Given the description of an element on the screen output the (x, y) to click on. 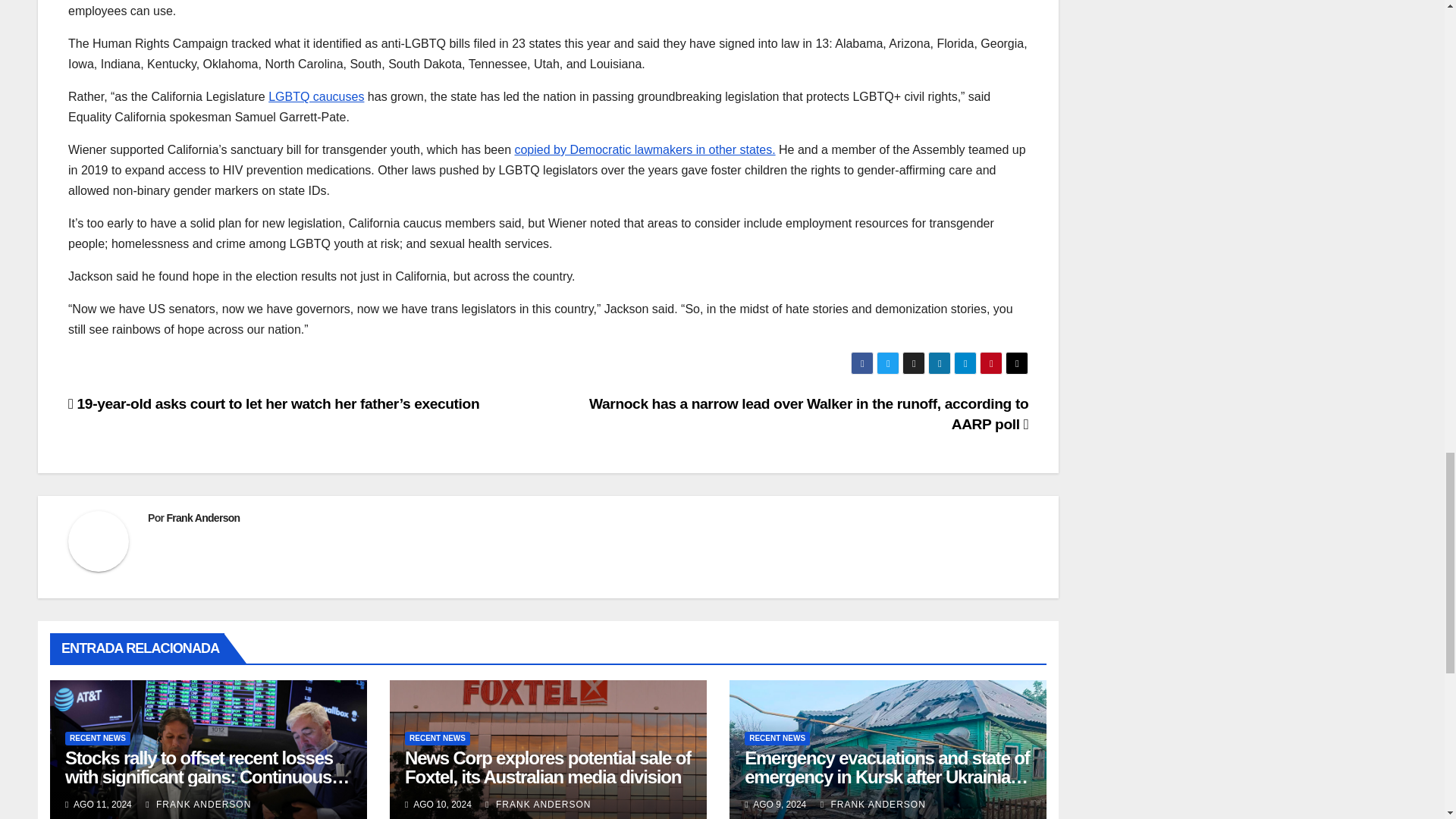
LGBTQ caucuses (315, 96)
copied by Democratic lawmakers in other states. (643, 149)
